Given the description of an element on the screen output the (x, y) to click on. 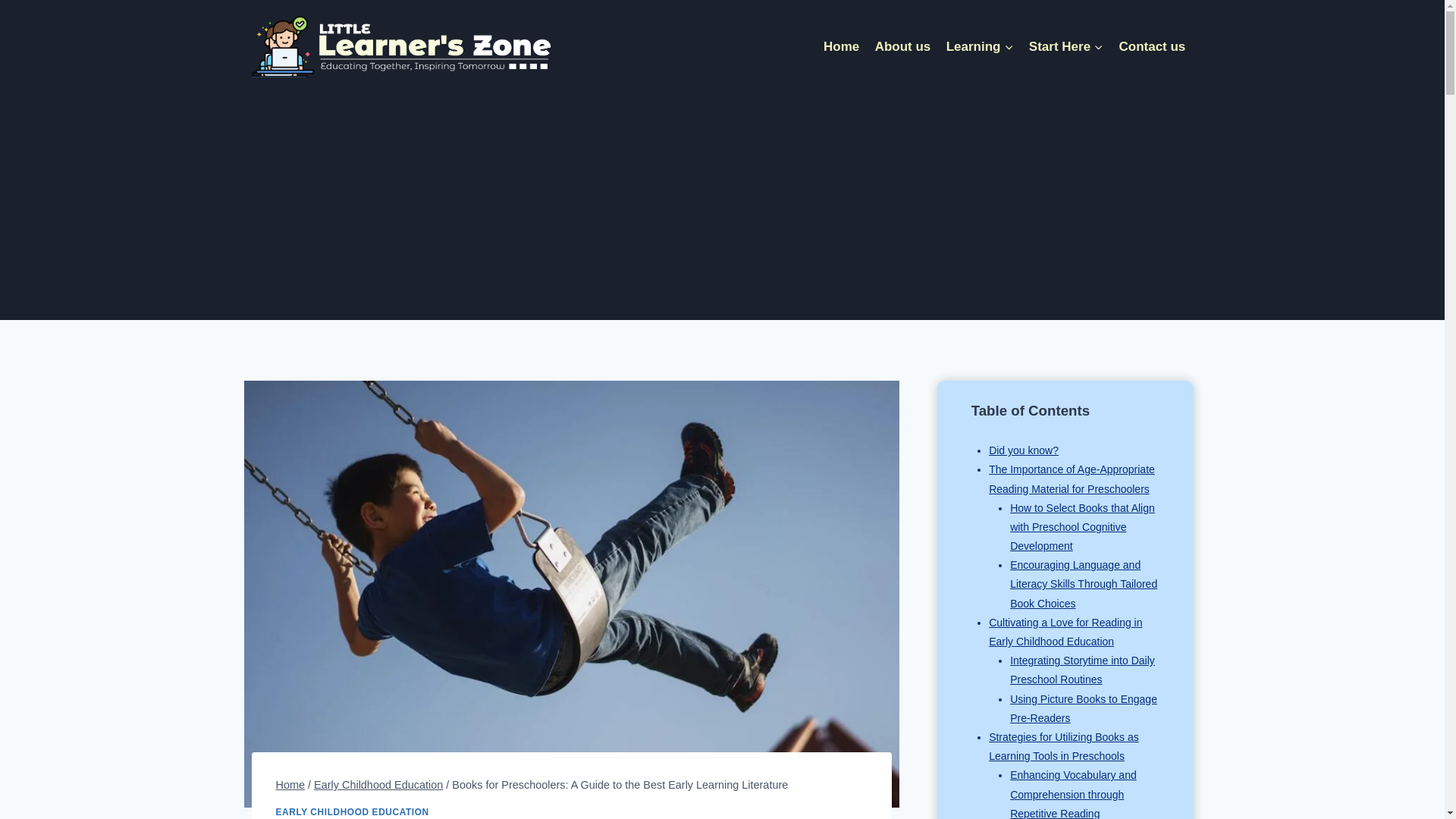
Early Childhood Education (378, 784)
Start Here (1067, 46)
EARLY CHILDHOOD EDUCATION (352, 811)
Home (290, 784)
Learning (978, 46)
